Given the description of an element on the screen output the (x, y) to click on. 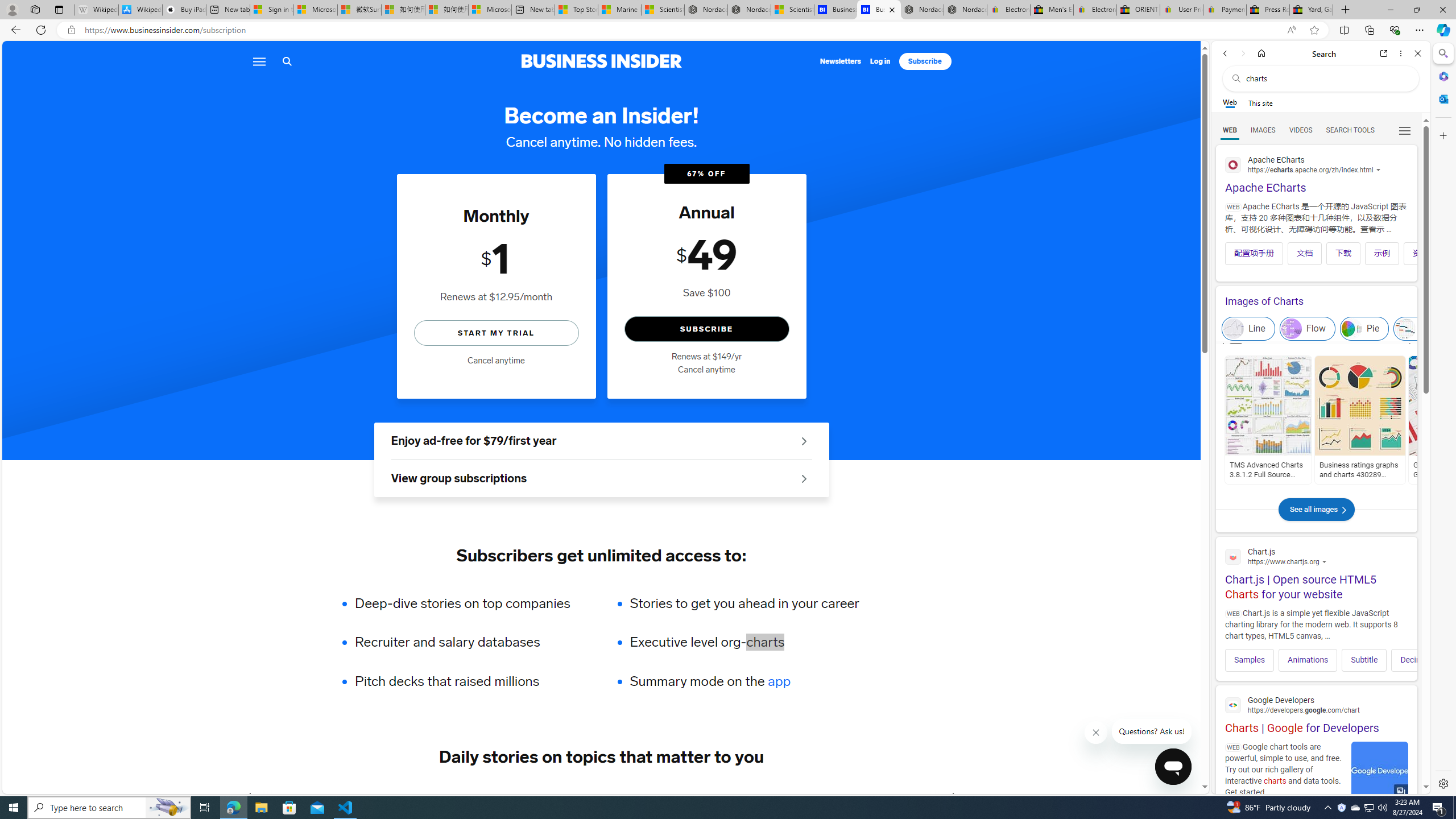
View group subscriptions (601, 478)
TMS Advanced Charts 3.8.1.2 Full Source D6~XE7 (1268, 469)
IMAGES (1262, 130)
Actions for this site (1353, 561)
STRATEGY (890, 796)
Marine life - MSN (619, 9)
Global web icon (1232, 705)
Apache ECharts (1315, 172)
Top Stories - MSN (576, 9)
Search icon (286, 61)
